Given the description of an element on the screen output the (x, y) to click on. 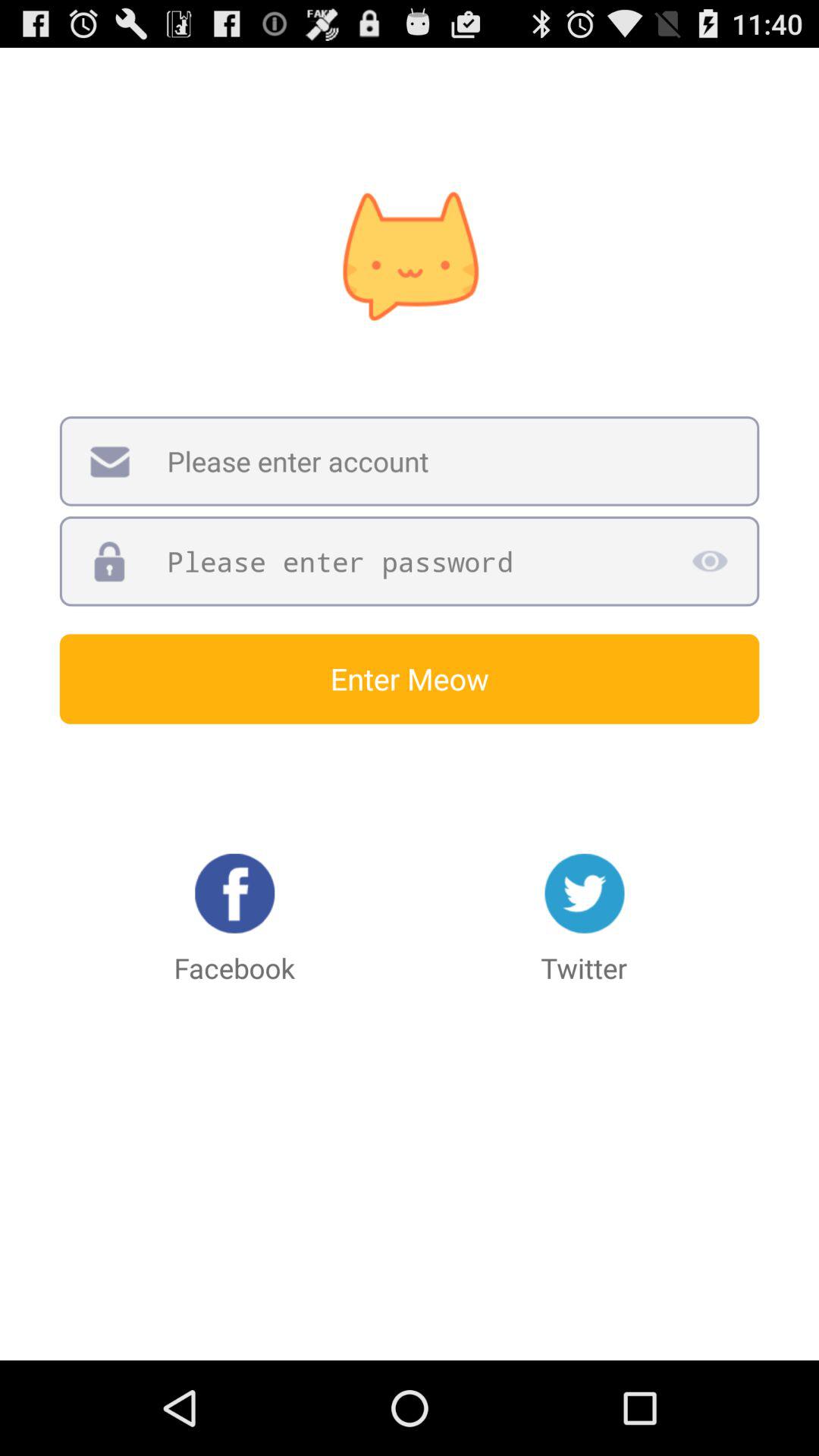
choose the enter meow icon (409, 679)
